Given the description of an element on the screen output the (x, y) to click on. 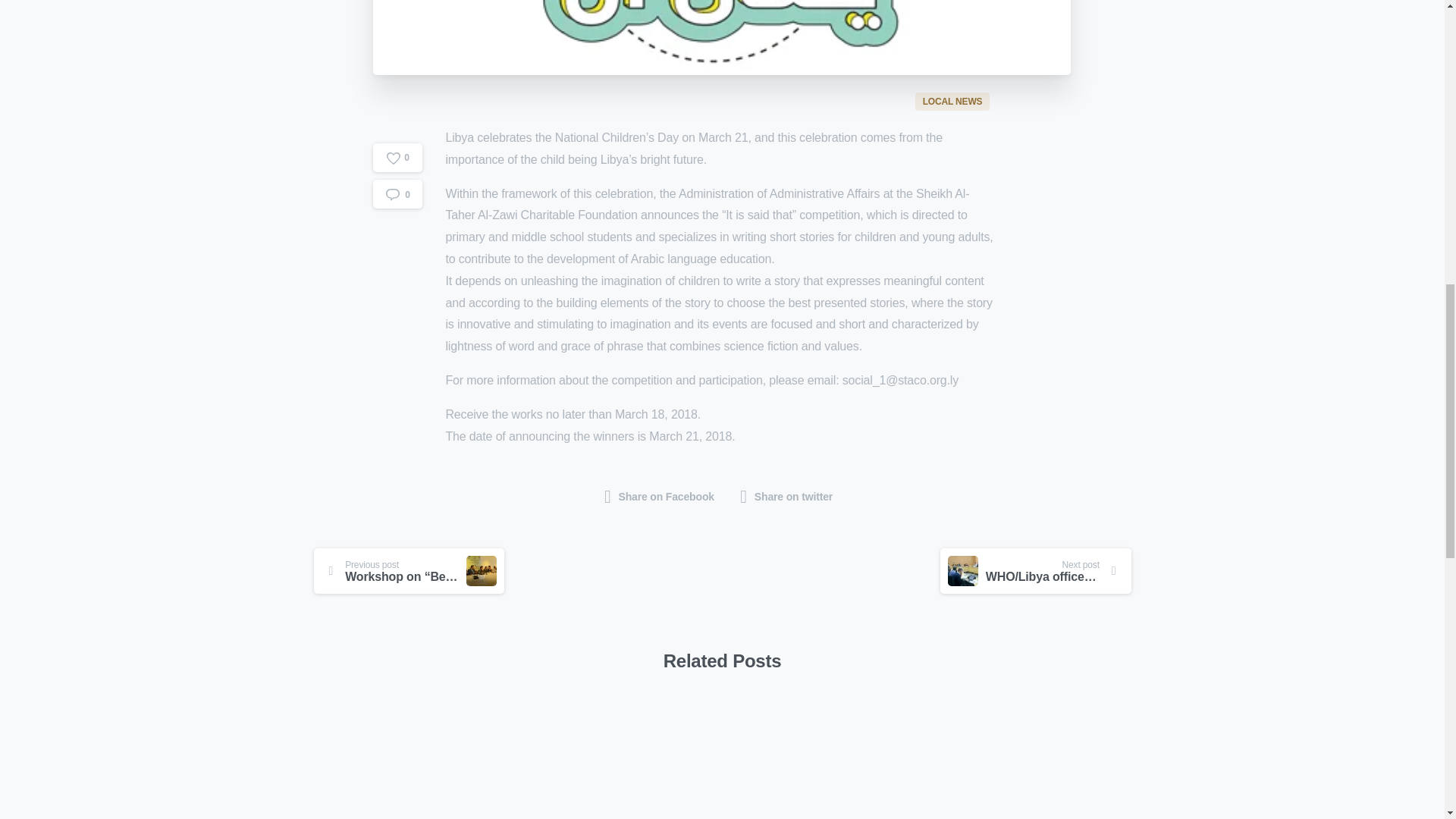
LOCAL NEWS (953, 100)
Like this (398, 104)
0 (398, 104)
Share on twitter (786, 497)
Share on Facebook (659, 497)
0 (397, 140)
